Given the description of an element on the screen output the (x, y) to click on. 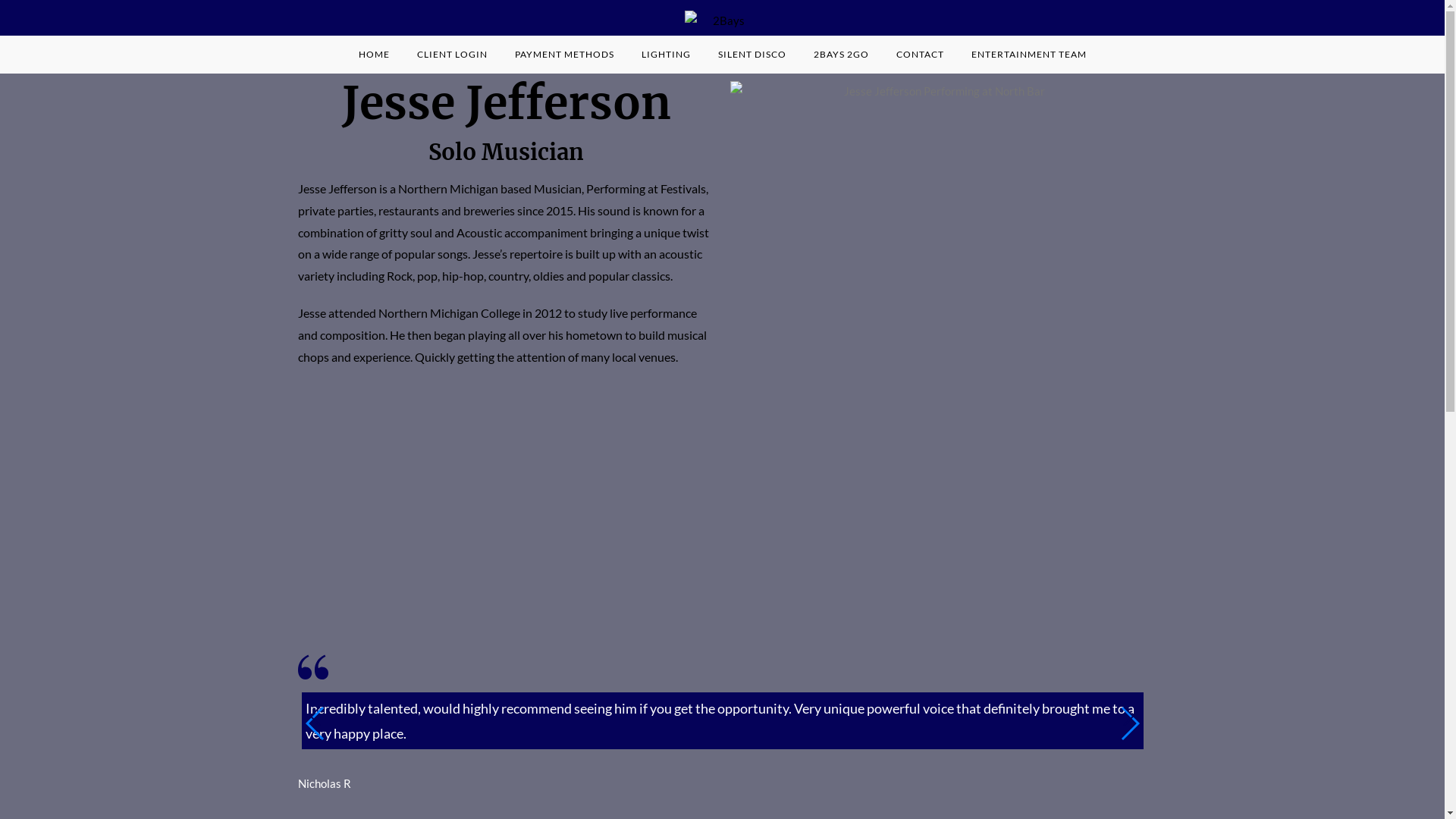
PAYMENT METHODS Element type: text (563, 54)
CLIENT LOGIN Element type: text (452, 54)
2BAYS 2GO Element type: text (840, 54)
LIGHTING Element type: text (665, 54)
SILENT DISCO Element type: text (751, 54)
CONTACT Element type: text (919, 54)
ENTERTAINMENT TEAM Element type: text (1028, 54)
HOME Element type: text (373, 54)
